Given the description of an element on the screen output the (x, y) to click on. 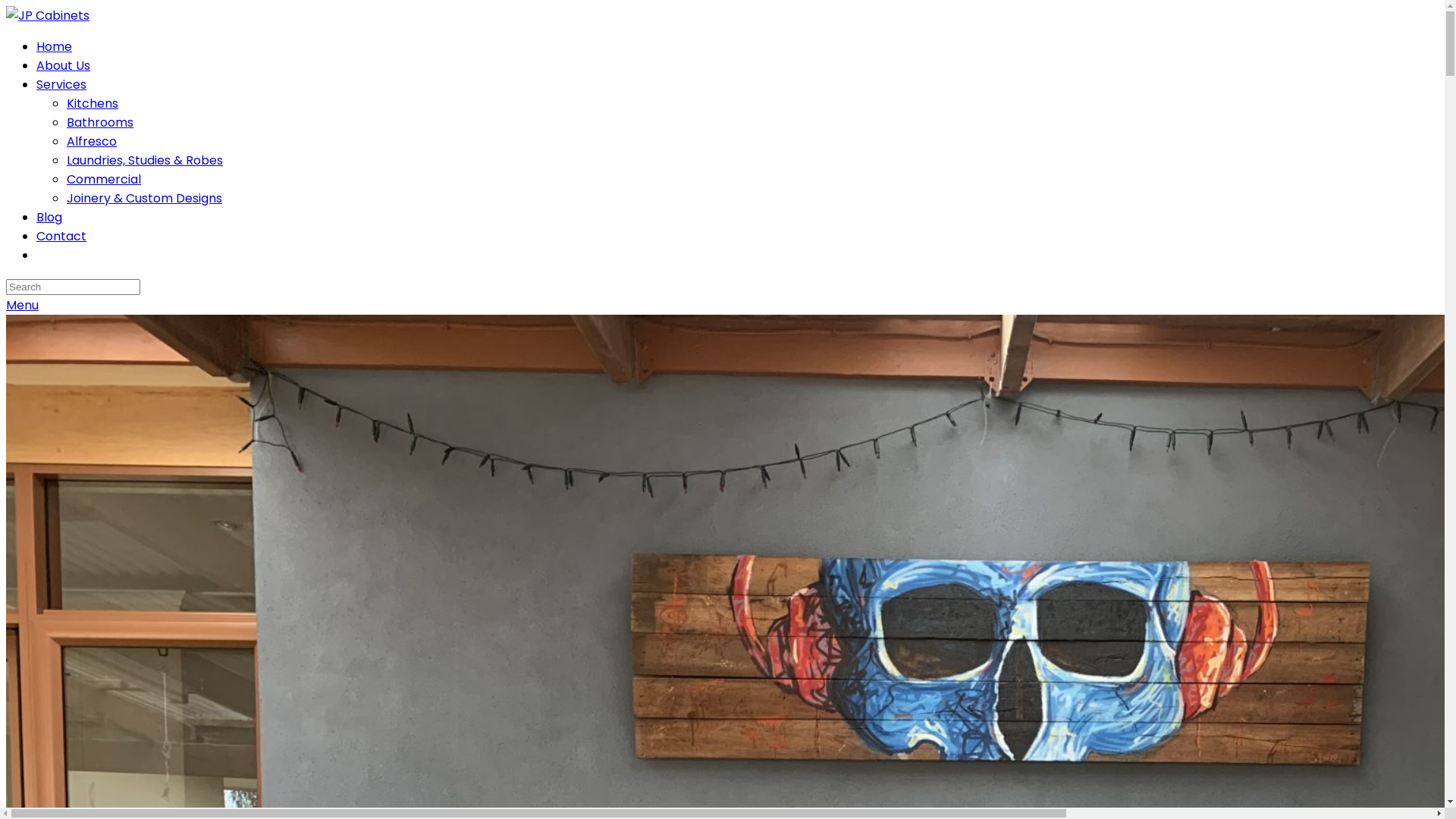
Laundries, Studies & Robes Element type: text (144, 160)
About Us Element type: text (63, 65)
Joinery & Custom Designs Element type: text (144, 198)
Commercial Element type: text (103, 179)
Kitchens Element type: text (92, 103)
Home Element type: text (54, 46)
Bathrooms Element type: text (99, 122)
Menu Element type: text (22, 304)
Contact Element type: text (61, 235)
Blog Element type: text (49, 216)
Services Element type: text (61, 84)
Alfresco Element type: text (91, 141)
